Given the description of an element on the screen output the (x, y) to click on. 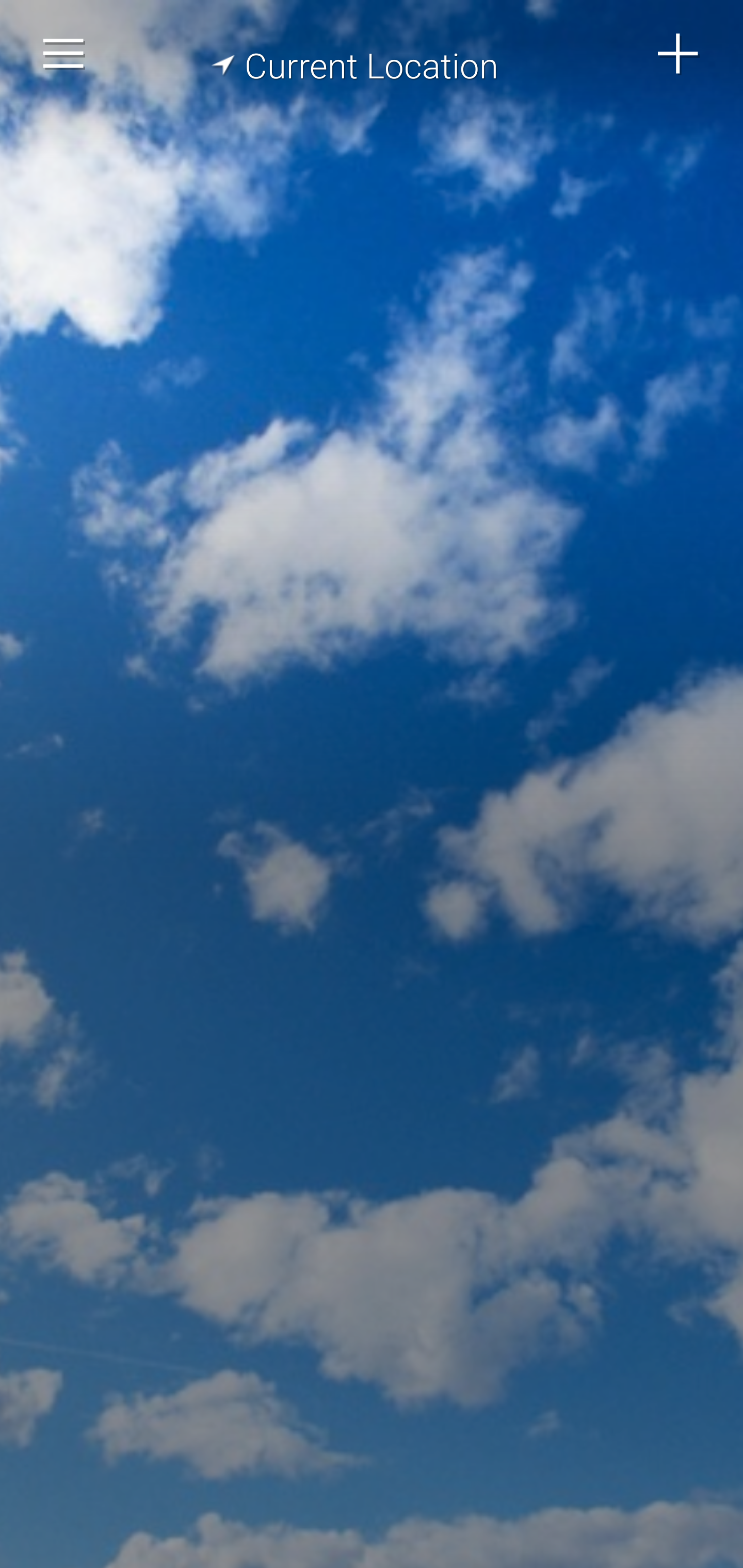
Sidebar (64, 54)
Add City (678, 53)
